Given the description of an element on the screen output the (x, y) to click on. 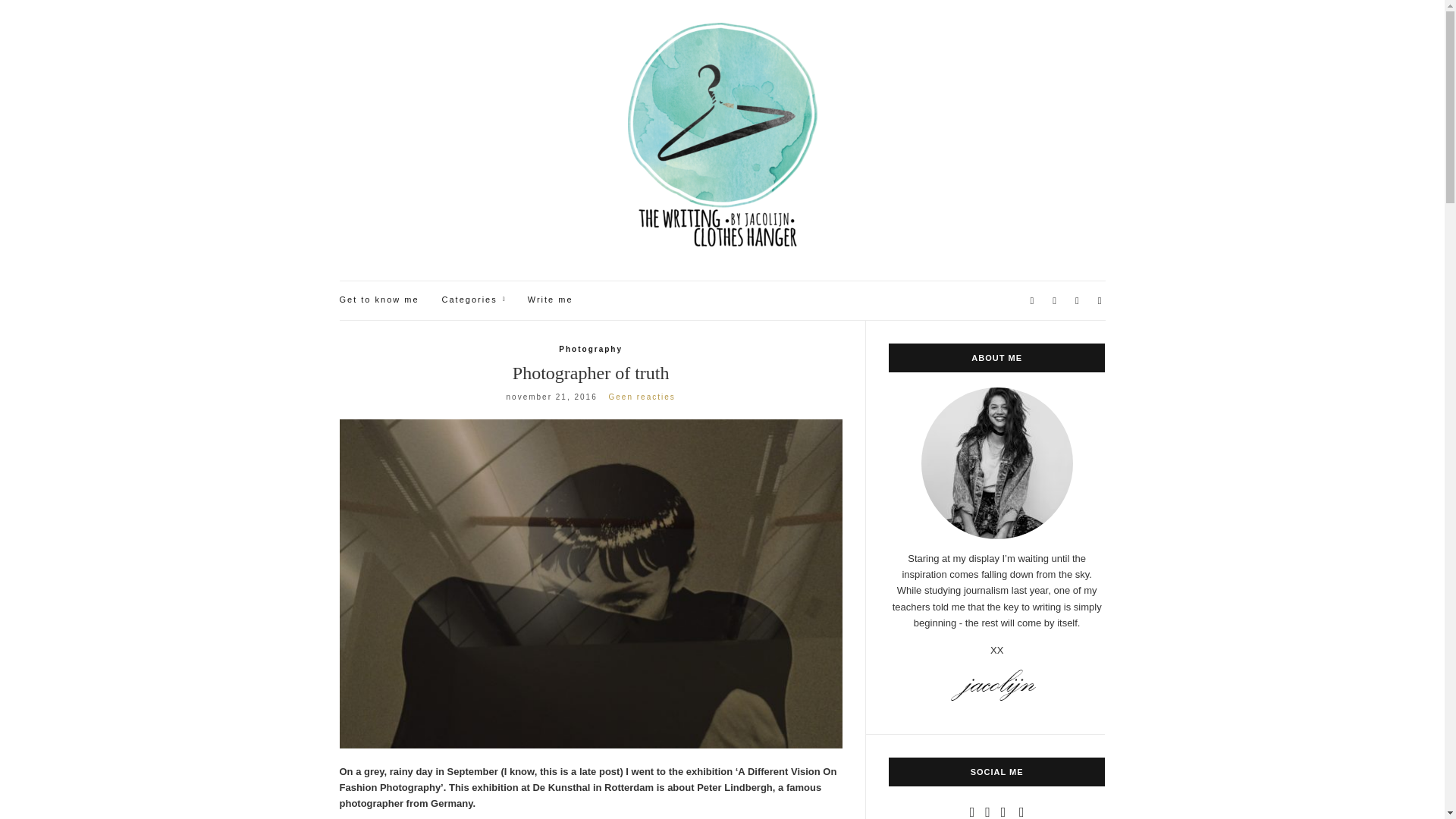
Write me (550, 300)
Photography (591, 349)
Categories (473, 300)
Geen reacties (641, 397)
Get to know me (379, 300)
